Given the description of an element on the screen output the (x, y) to click on. 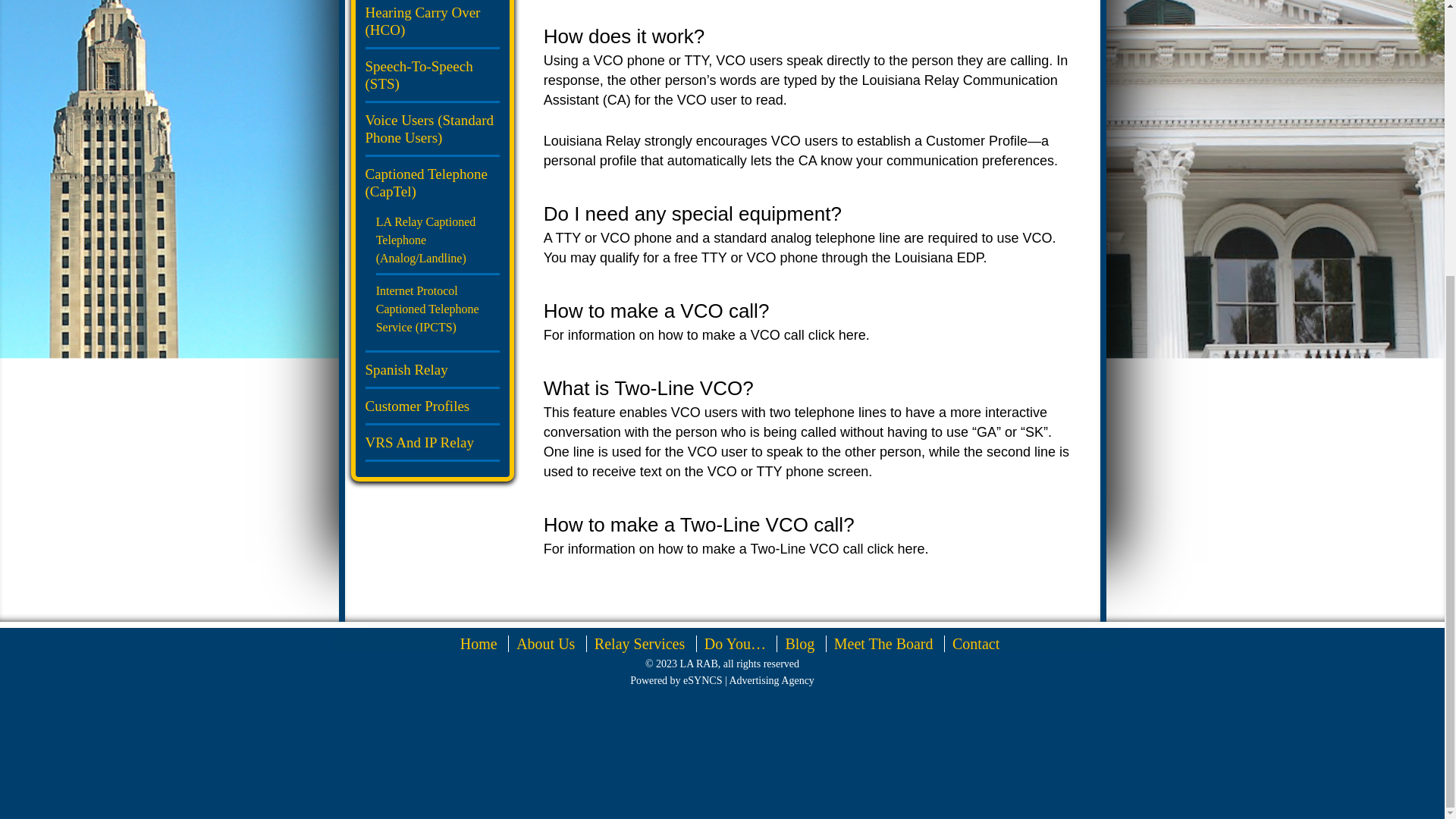
Relay Services (639, 643)
Contact (975, 643)
For information on how to make a VCO call click here. (706, 335)
Home (478, 643)
Customer Profiles (417, 406)
VRS And IP Relay (419, 442)
Spanish Relay (406, 369)
About Us (545, 643)
Meet The Board (883, 643)
